Given the description of an element on the screen output the (x, y) to click on. 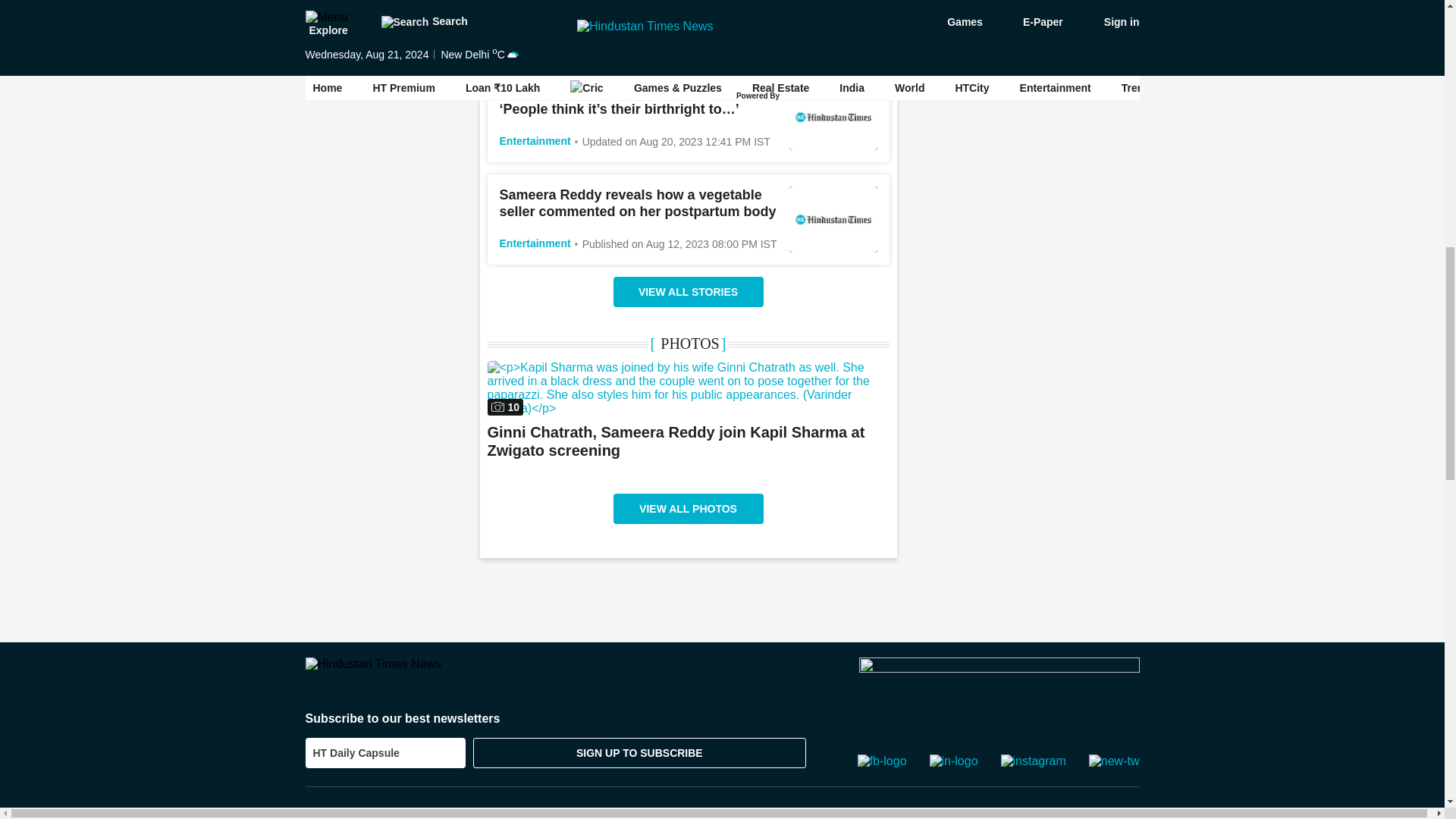
Sameera Reddy shares her top 5 Goan food picks (624, 7)
Sameera Reddy was trolled a lot during her postpartum period (832, 116)
